Given the description of an element on the screen output the (x, y) to click on. 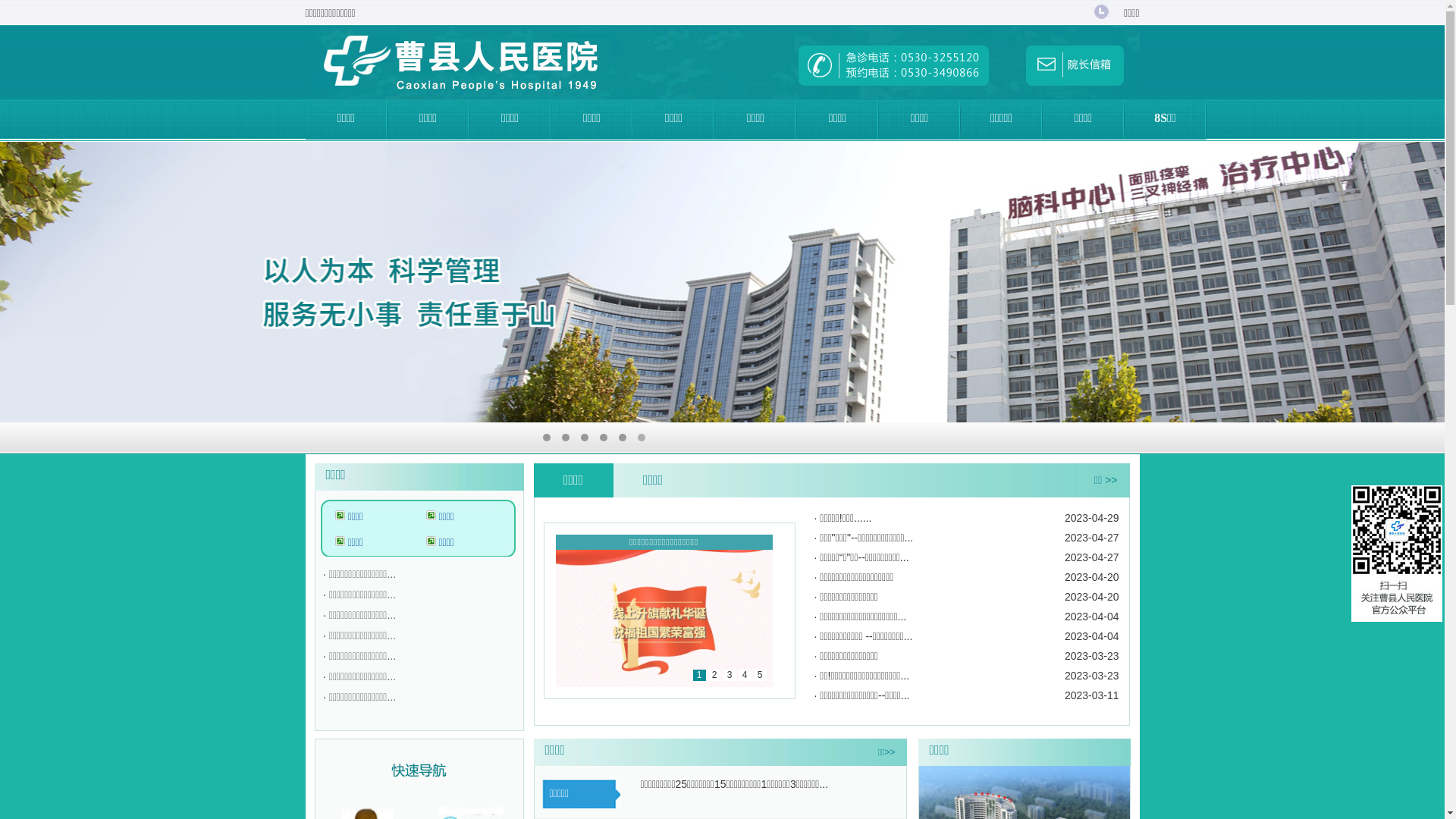
6 Element type: text (641, 437)
4 Element type: text (603, 437)
5 Element type: text (622, 437)
3 Element type: text (584, 437)
1 Element type: text (546, 437)
2 Element type: text (565, 437)
